Given the description of an element on the screen output the (x, y) to click on. 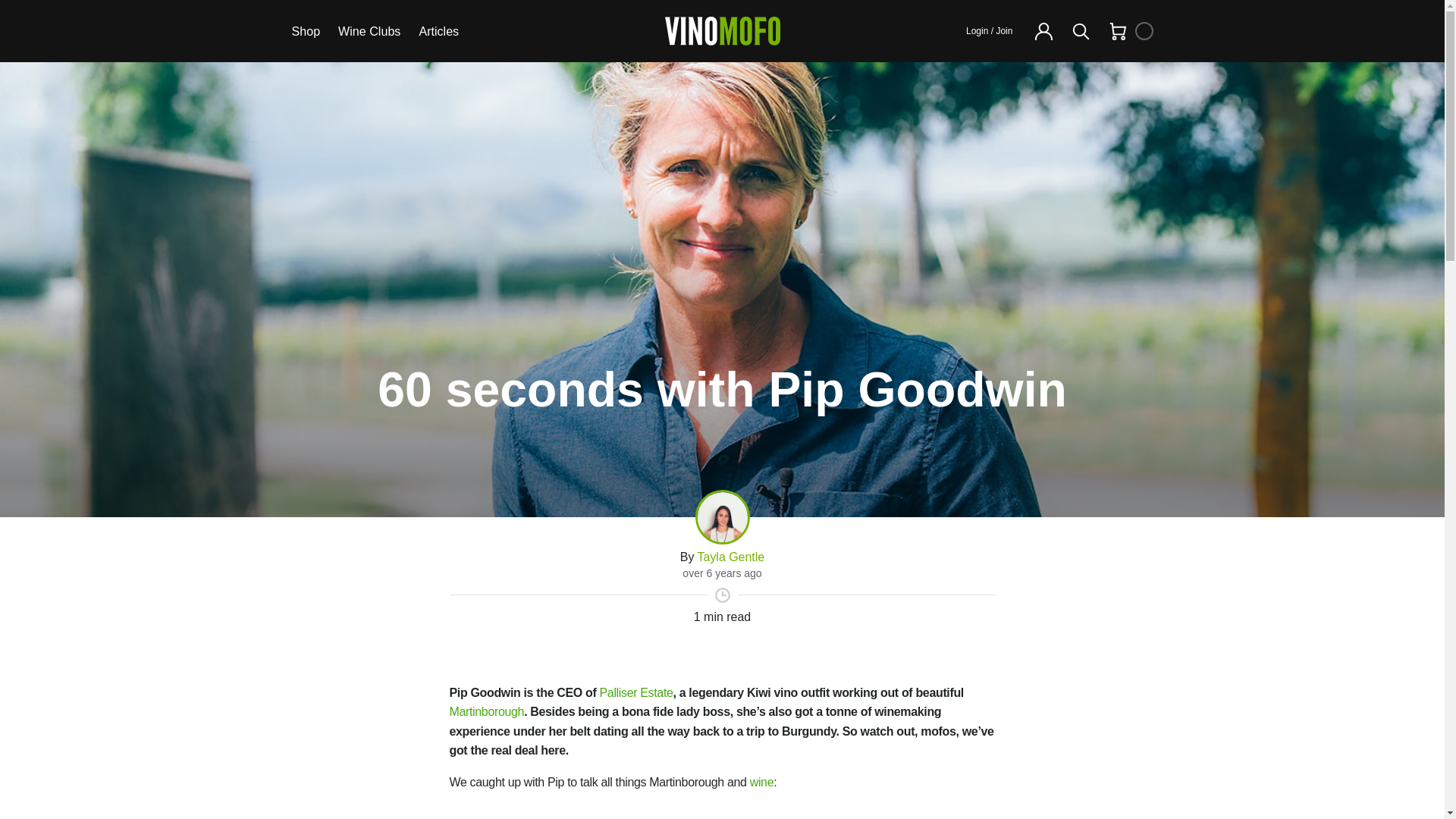
Wine Clubs (369, 31)
Palliser Estate (635, 692)
Martinborough (486, 711)
Login (977, 30)
Articles (438, 31)
Shop (305, 31)
wine (761, 781)
Join (1003, 30)
